Given the description of an element on the screen output the (x, y) to click on. 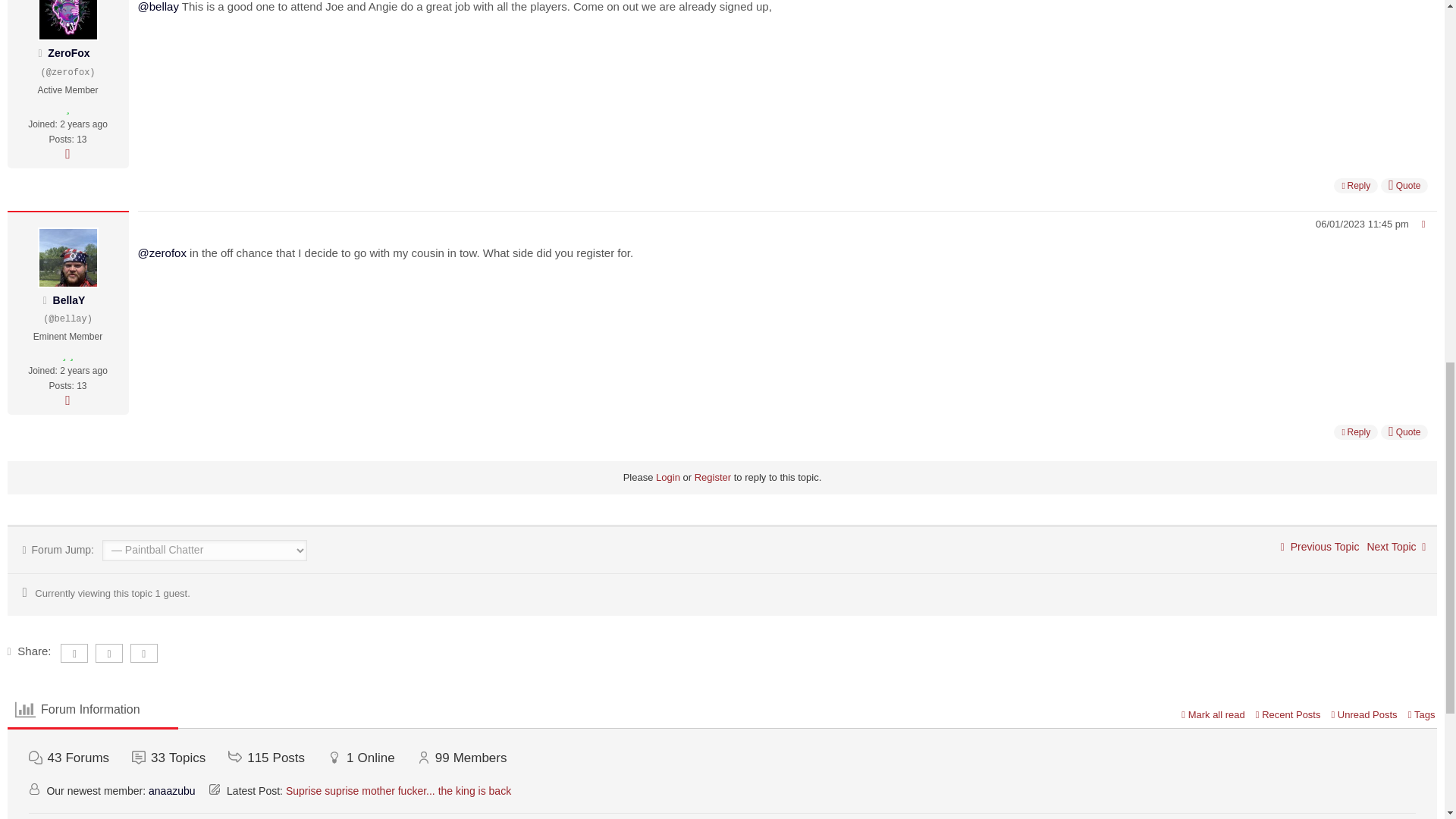
Next Topic   (1396, 546)
BellaY (68, 300)
Login (667, 477)
Register (712, 477)
ZeroFox (68, 52)
  Previous Topic (1320, 546)
